Given the description of an element on the screen output the (x, y) to click on. 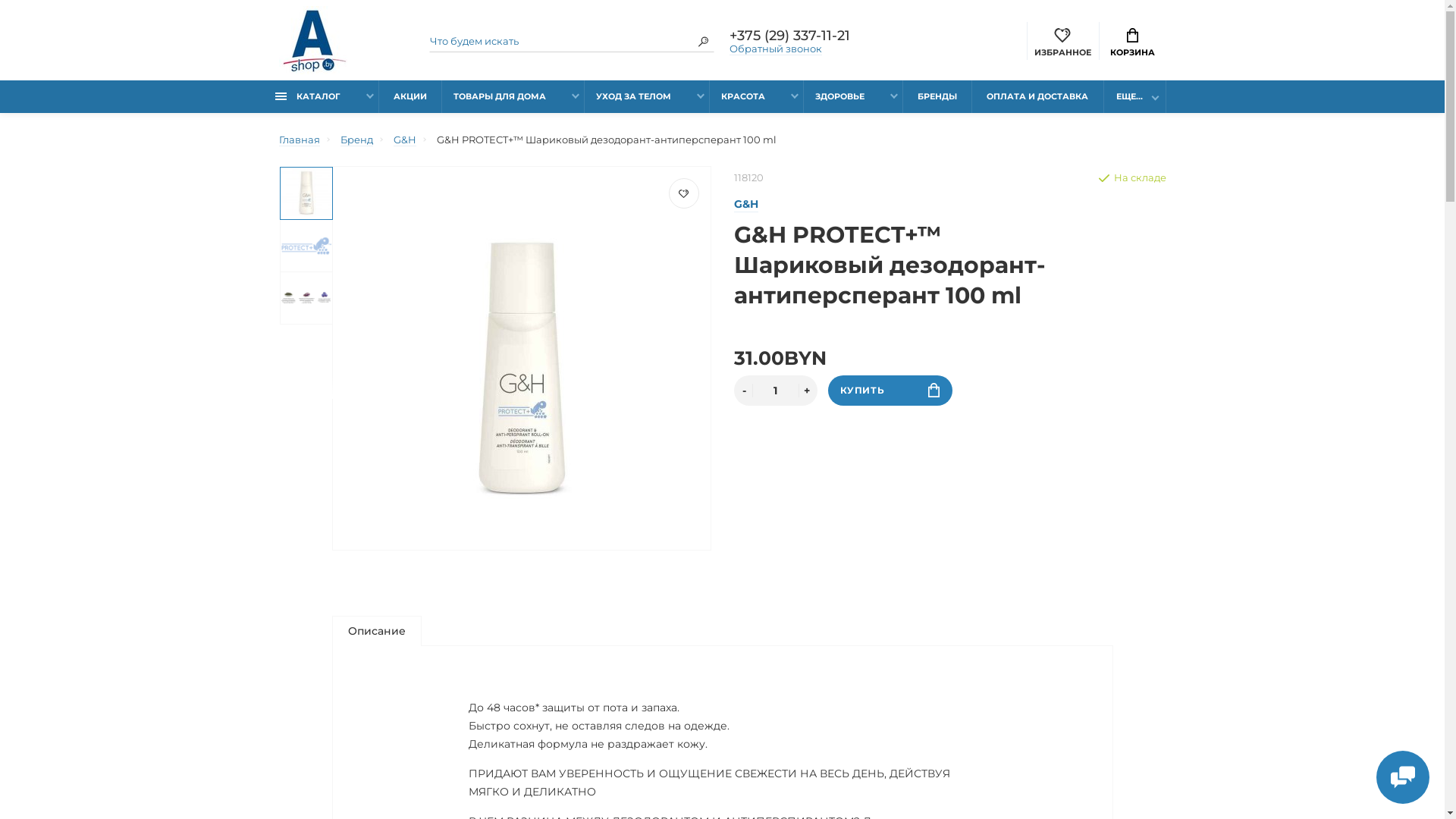
G&H Element type: text (746, 204)
G&H Element type: text (403, 139)
Amway-shop.by Element type: hover (313, 40)
+375 (29) 337-11-21 Element type: text (795, 34)
